Given the description of an element on the screen output the (x, y) to click on. 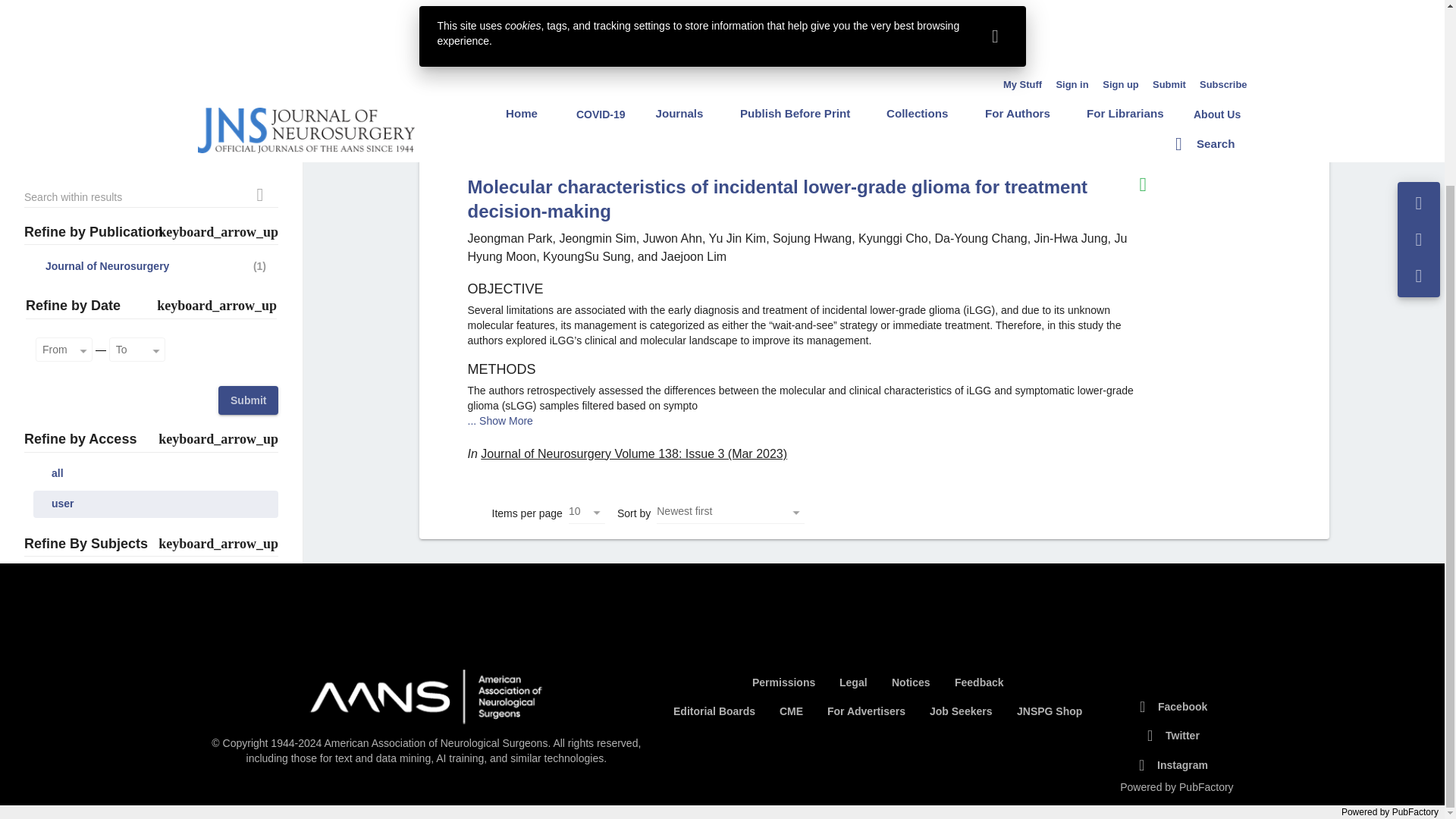
Email this link (1418, 13)
all (155, 243)
Submit (248, 170)
